Given the description of an element on the screen output the (x, y) to click on. 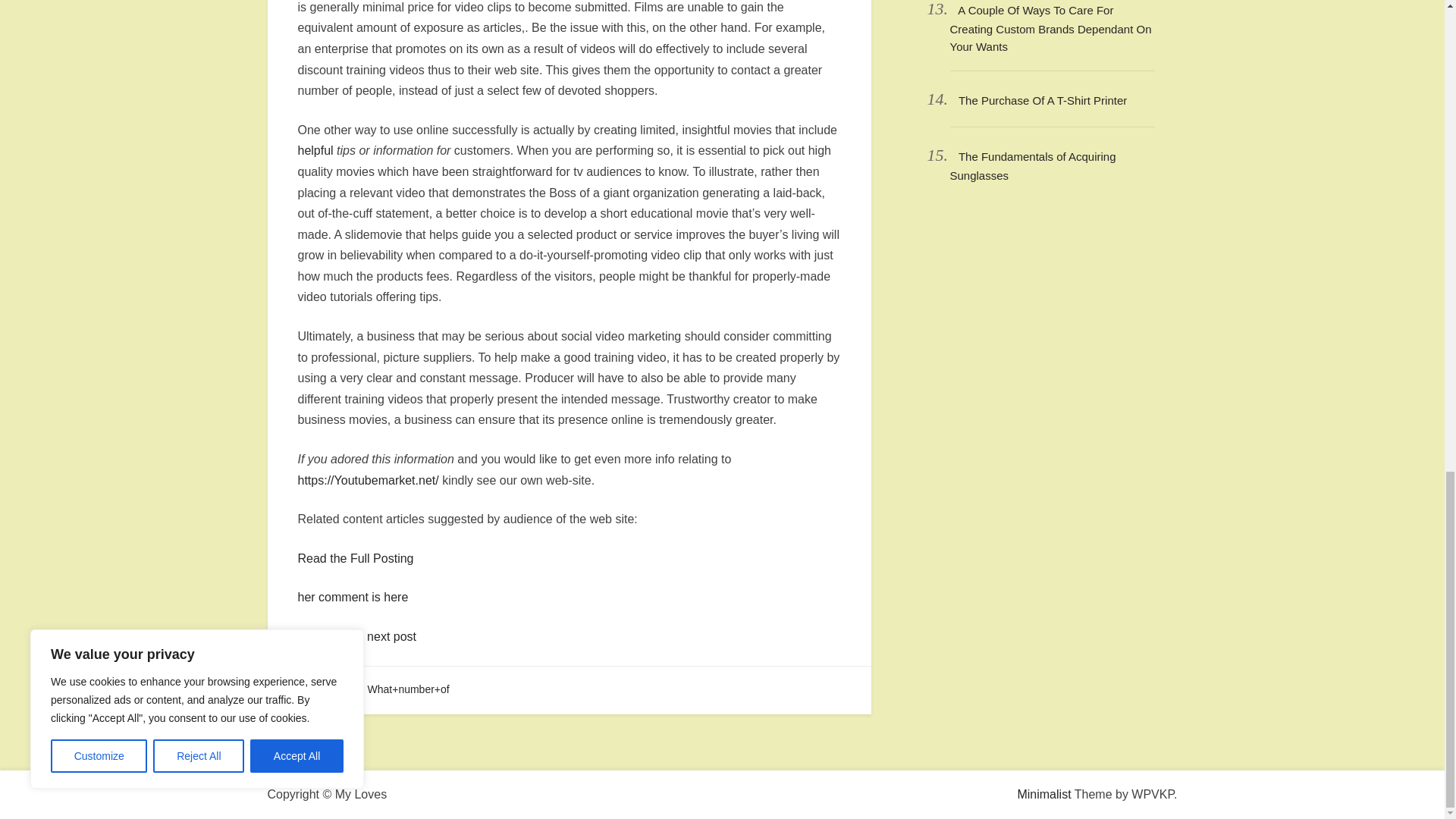
General (324, 689)
Read the Full Posting (355, 558)
just click the next post (356, 635)
helpful (315, 150)
her comment is here (352, 596)
